Given the description of an element on the screen output the (x, y) to click on. 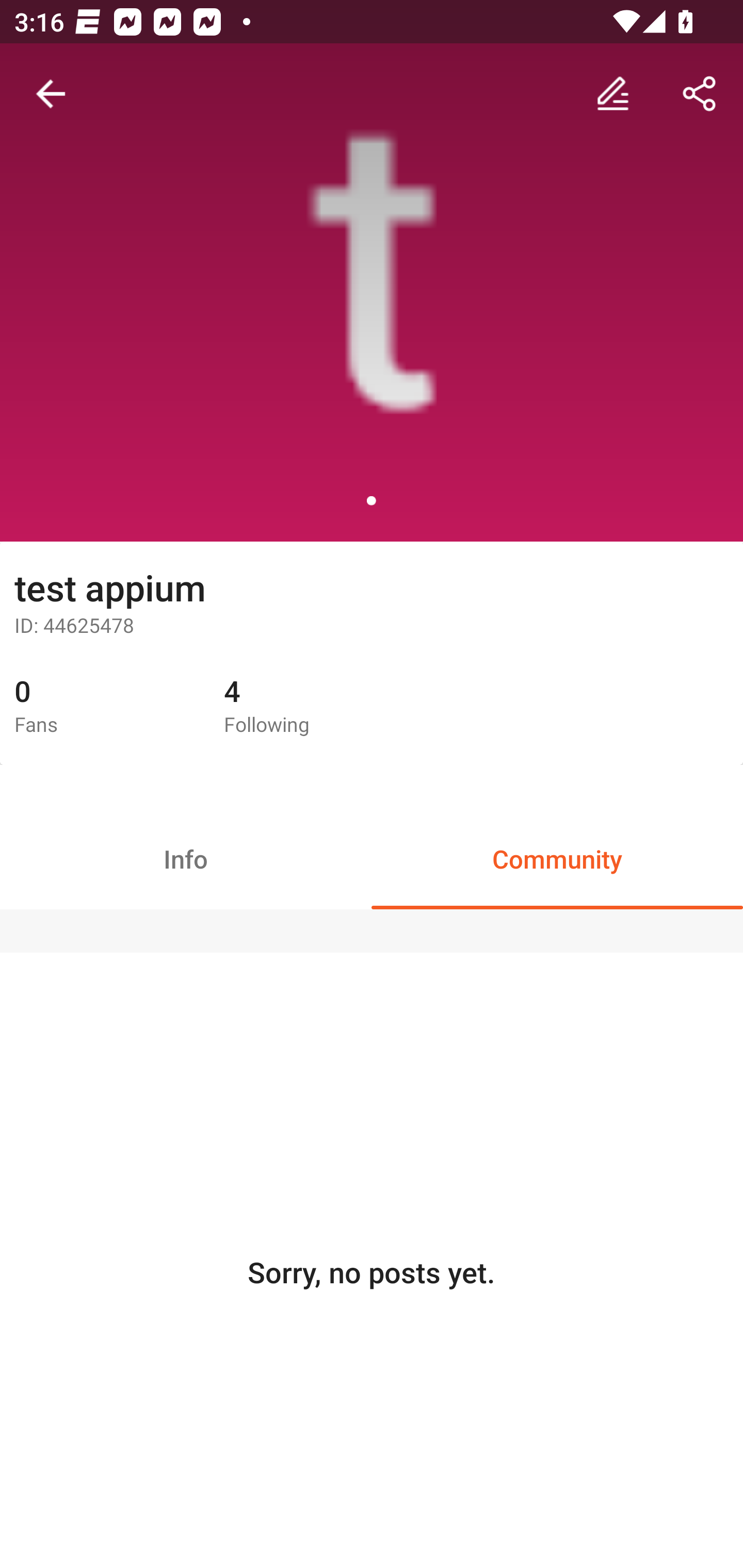
Navigate up (50, 93)
Edit (612, 93)
Share (699, 93)
0 Fans (104, 707)
4 Following (313, 707)
Info (185, 858)
Community (557, 858)
